Given the description of an element on the screen output the (x, y) to click on. 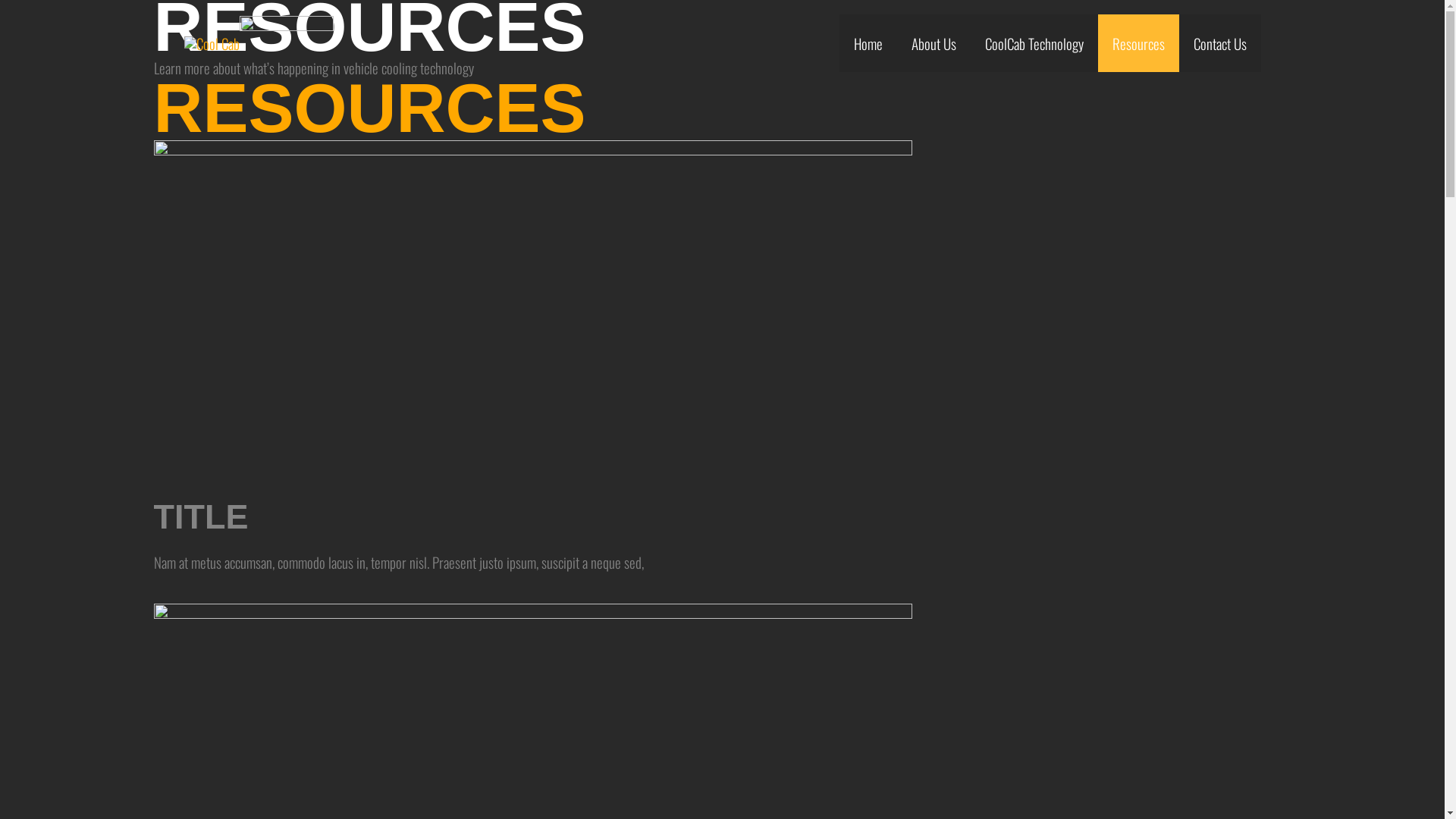
About Us Element type: text (932, 43)
Contact Us Element type: text (1219, 43)
CoolCab Technology Element type: text (1034, 43)
Title Element type: hover (532, 315)
TITLE Element type: text (200, 516)
Resources Element type: text (1138, 43)
Home Element type: text (867, 43)
Title Element type: hover (532, 777)
